Given the description of an element on the screen output the (x, y) to click on. 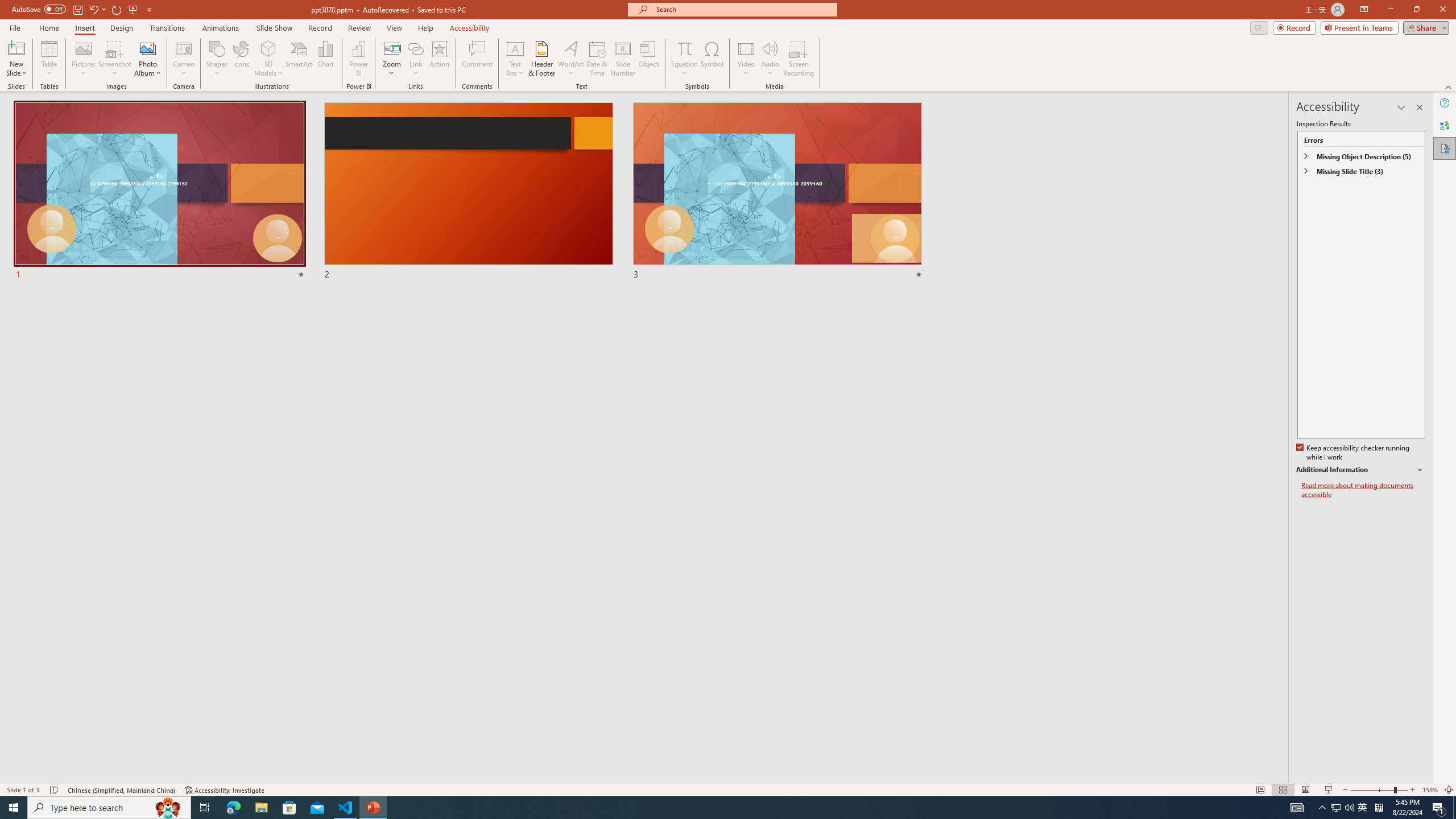
Date & Time... (596, 58)
Icons (240, 58)
